Given the description of an element on the screen output the (x, y) to click on. 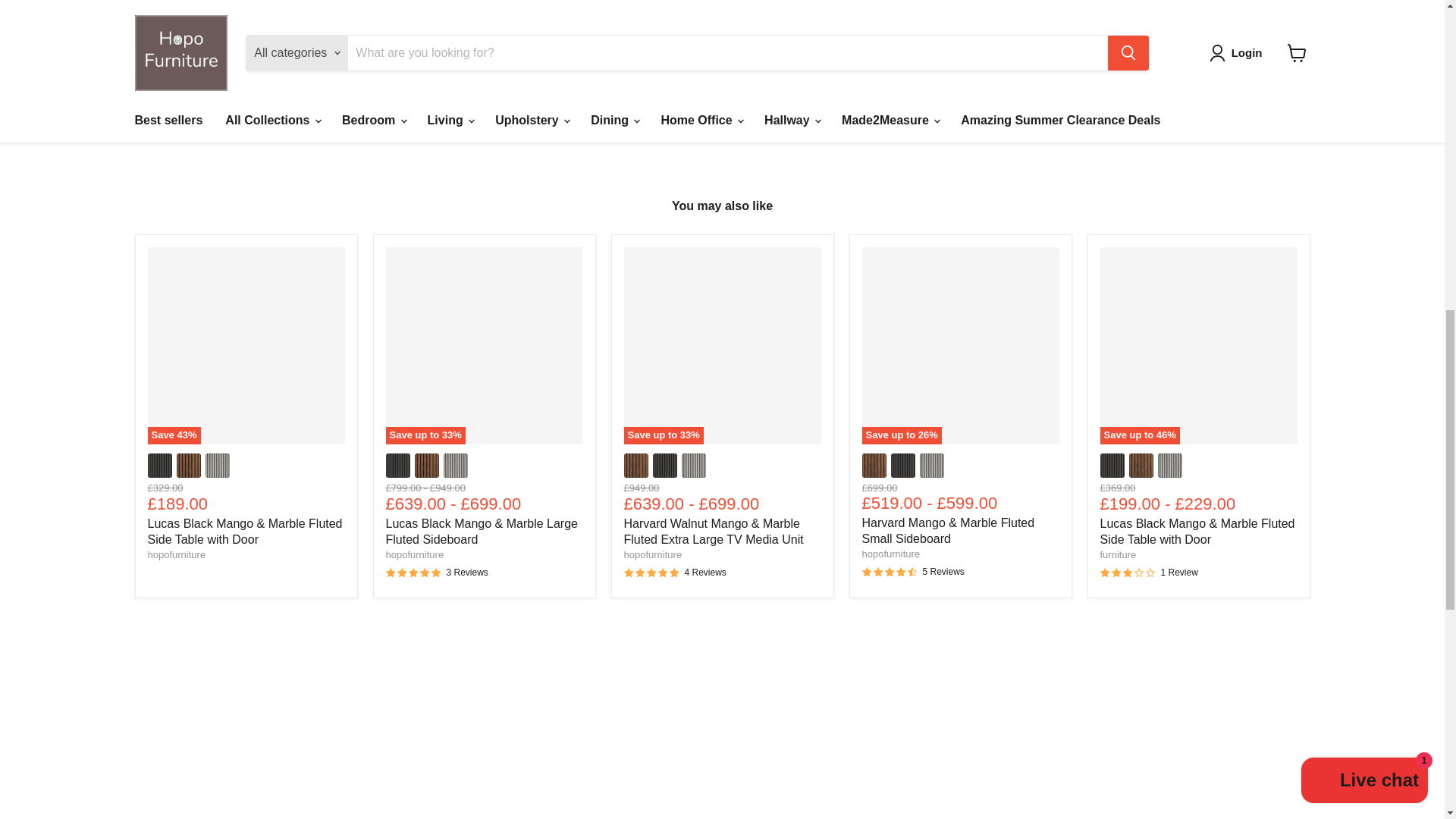
hopofurniture (176, 554)
furniture (1117, 554)
hopofurniture (890, 553)
hopofurniture (652, 554)
hopofurniture (414, 554)
1 (845, 42)
